Given the description of an element on the screen output the (x, y) to click on. 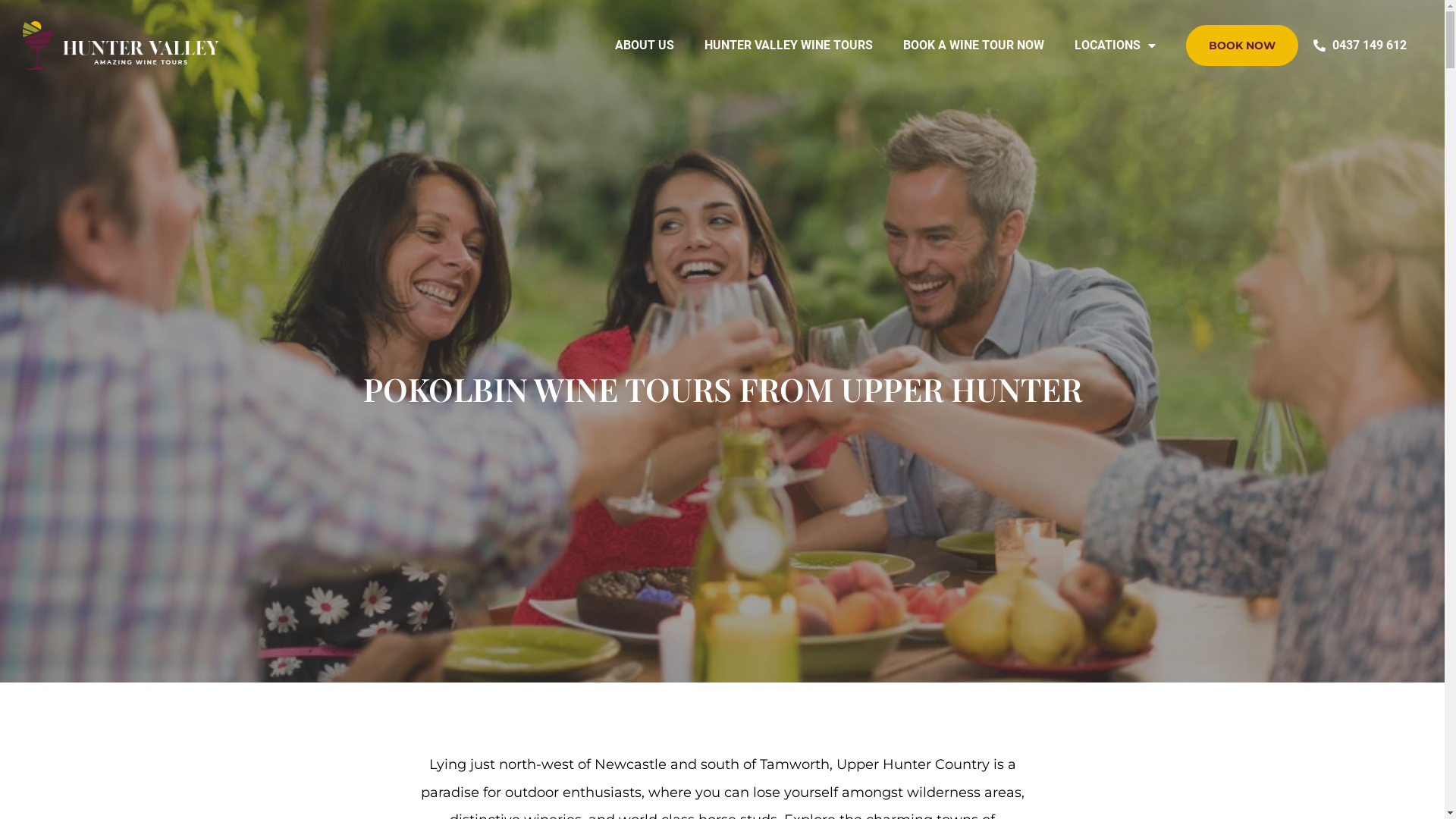
HUNTER VALLEY WINE TOURS Element type: text (788, 45)
ABOUT US Element type: text (644, 45)
BOOK A WINE TOUR NOW Element type: text (973, 45)
LOCATIONS Element type: text (1114, 45)
BOOK NOW Element type: text (1242, 45)
0437 149 612 Element type: text (1359, 44)
